Given the description of an element on the screen output the (x, y) to click on. 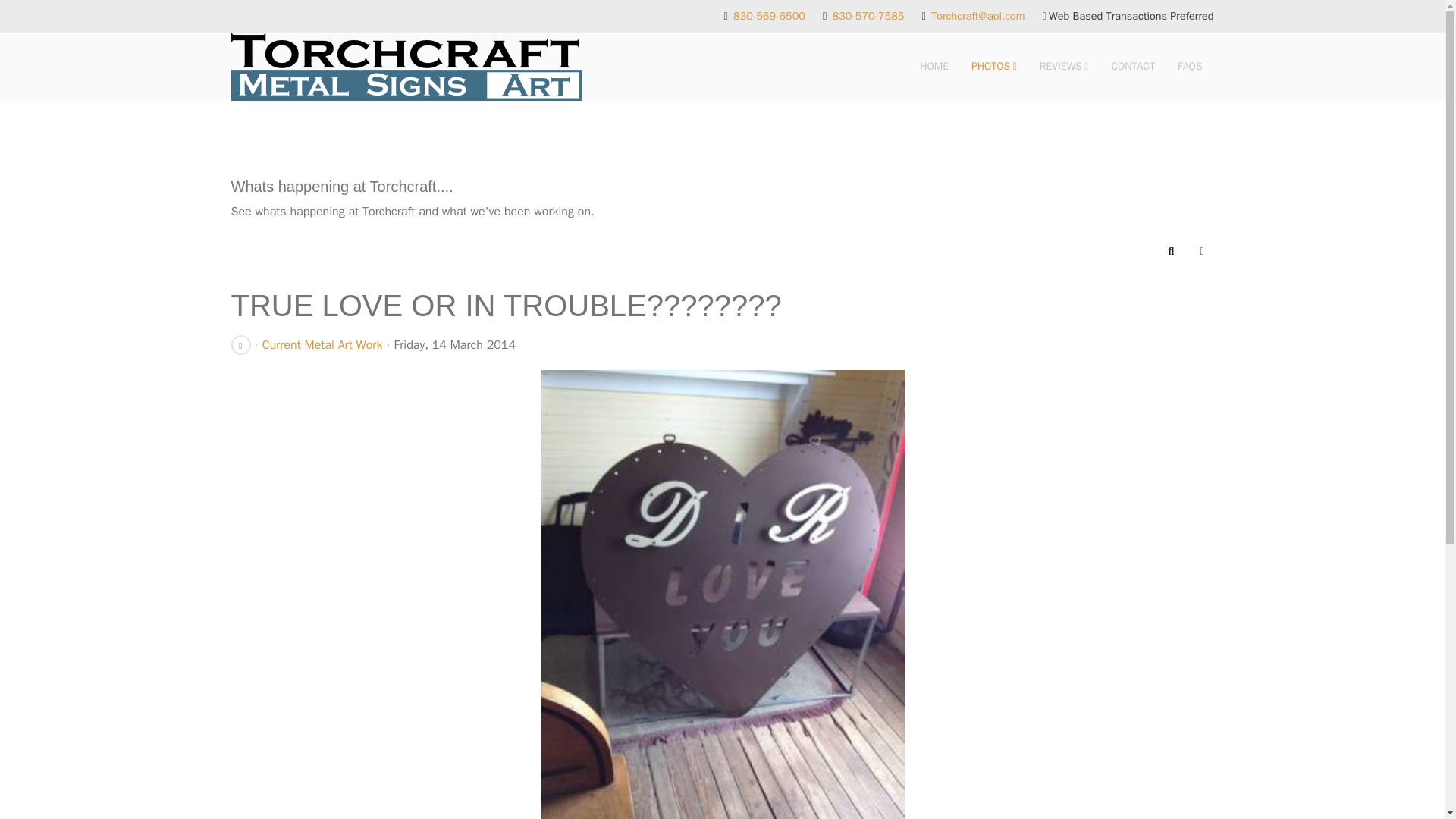
PHOTOS (993, 66)
CONTACT (1132, 66)
Contact Jerry at Torchcraft Metal Art (1132, 66)
REVIEWS (1063, 66)
830-570-7585 (868, 15)
Photo Gallery (993, 66)
Search (1171, 251)
Current Metal Art Work (322, 345)
830-569-6500 (769, 15)
